Given the description of an element on the screen output the (x, y) to click on. 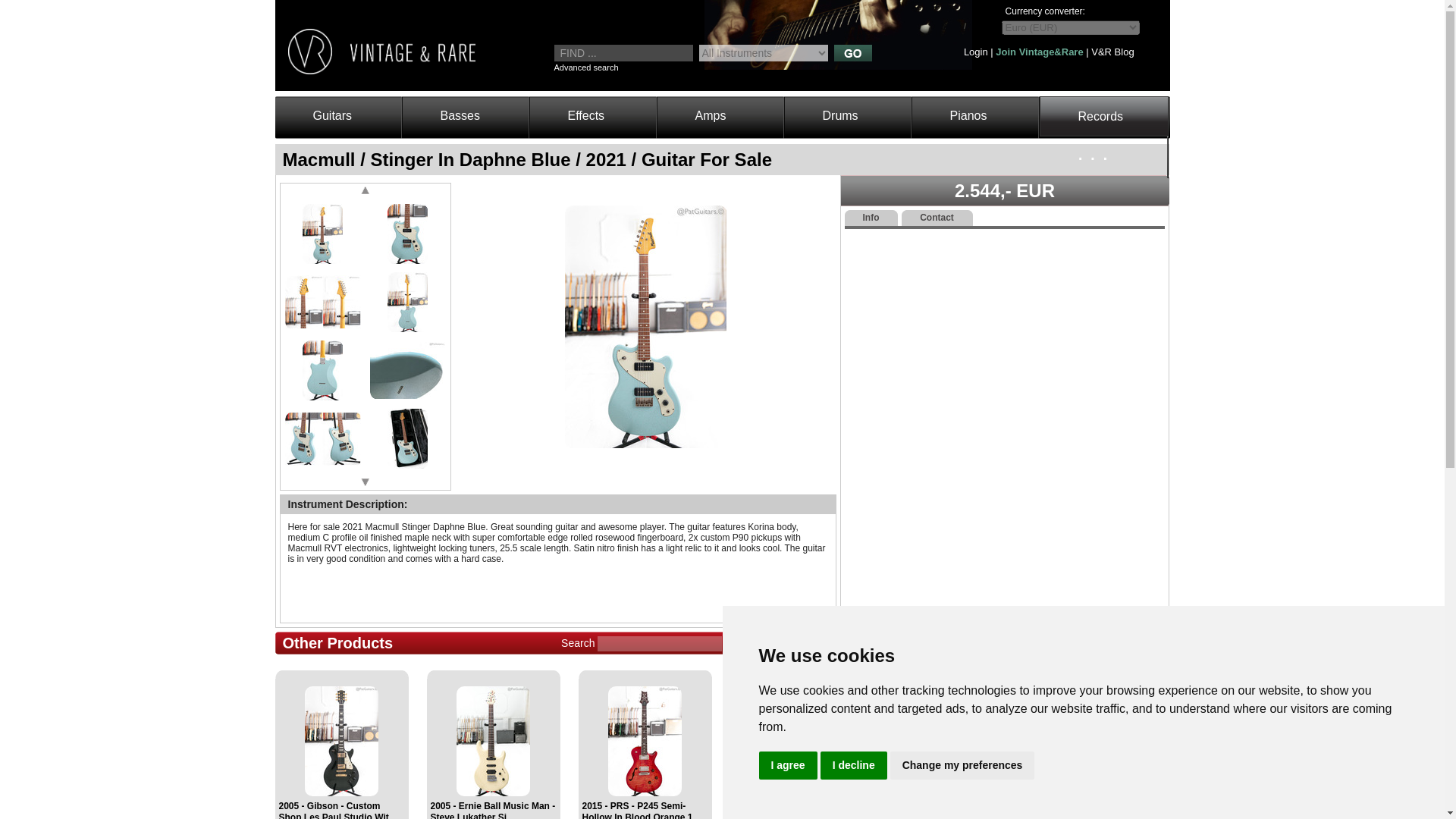
Macmull-Stinger in Daphne Blue-2021 (406, 301)
Guitars (318, 120)
Macmull-Stinger in Daphne Blue-2021 (406, 437)
Macmull-Stinger in Daphne Blue-2021 (322, 301)
Macmull-Stinger in Daphne Blue-2021 (406, 369)
1 (322, 233)
Pianos (954, 120)
scroll up (365, 191)
Macmull-Stinger in Daphne Blue-2021 (322, 233)
Basses (445, 120)
Records (1087, 120)
5 (322, 369)
... (1081, 160)
I agree (787, 765)
FIND ... (623, 53)
